Given the description of an element on the screen output the (x, y) to click on. 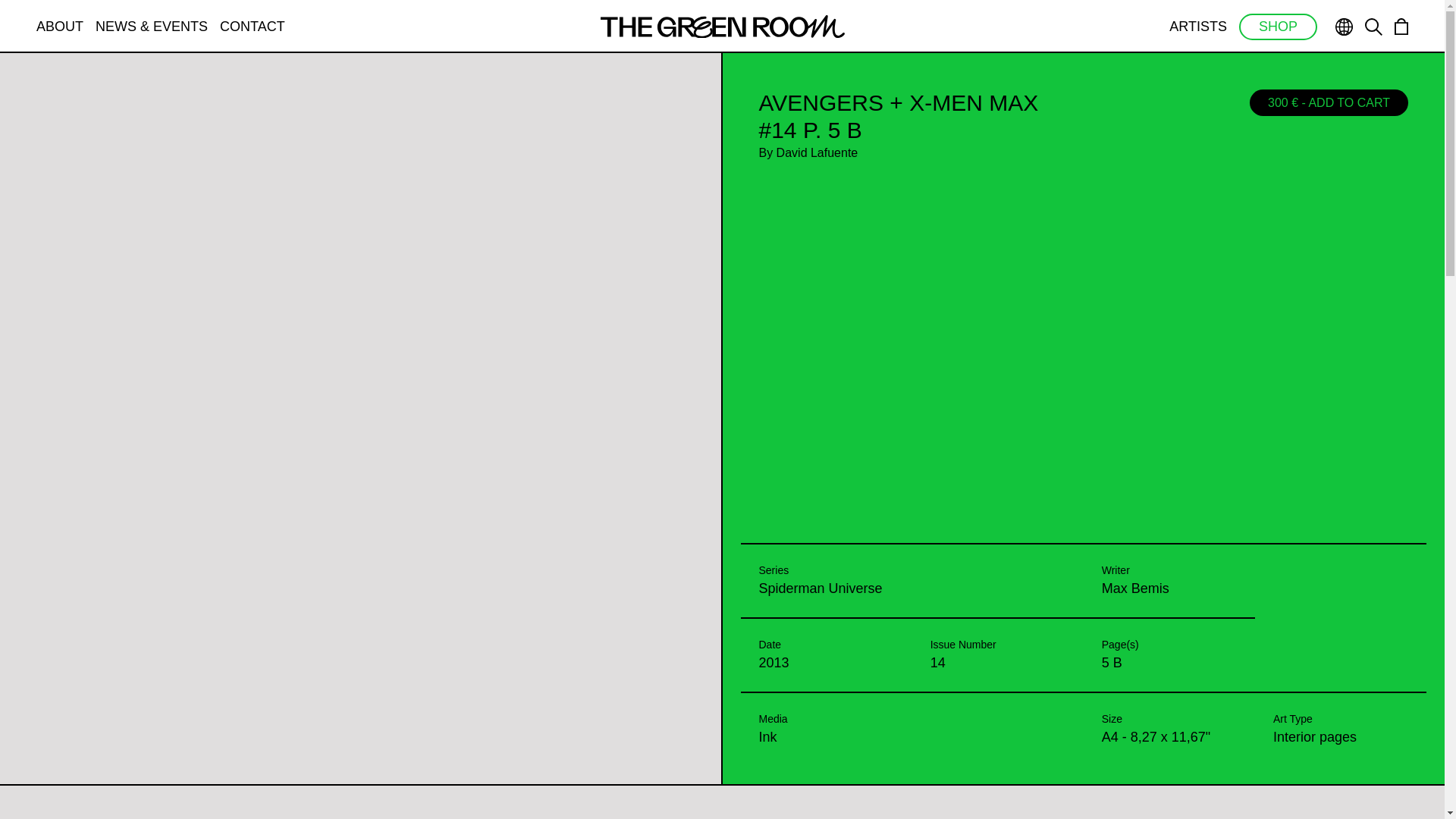
SHOP (1278, 26)
CONTACT (252, 26)
ARTISTS (1198, 26)
ABOUT (59, 26)
